Given the description of an element on the screen output the (x, y) to click on. 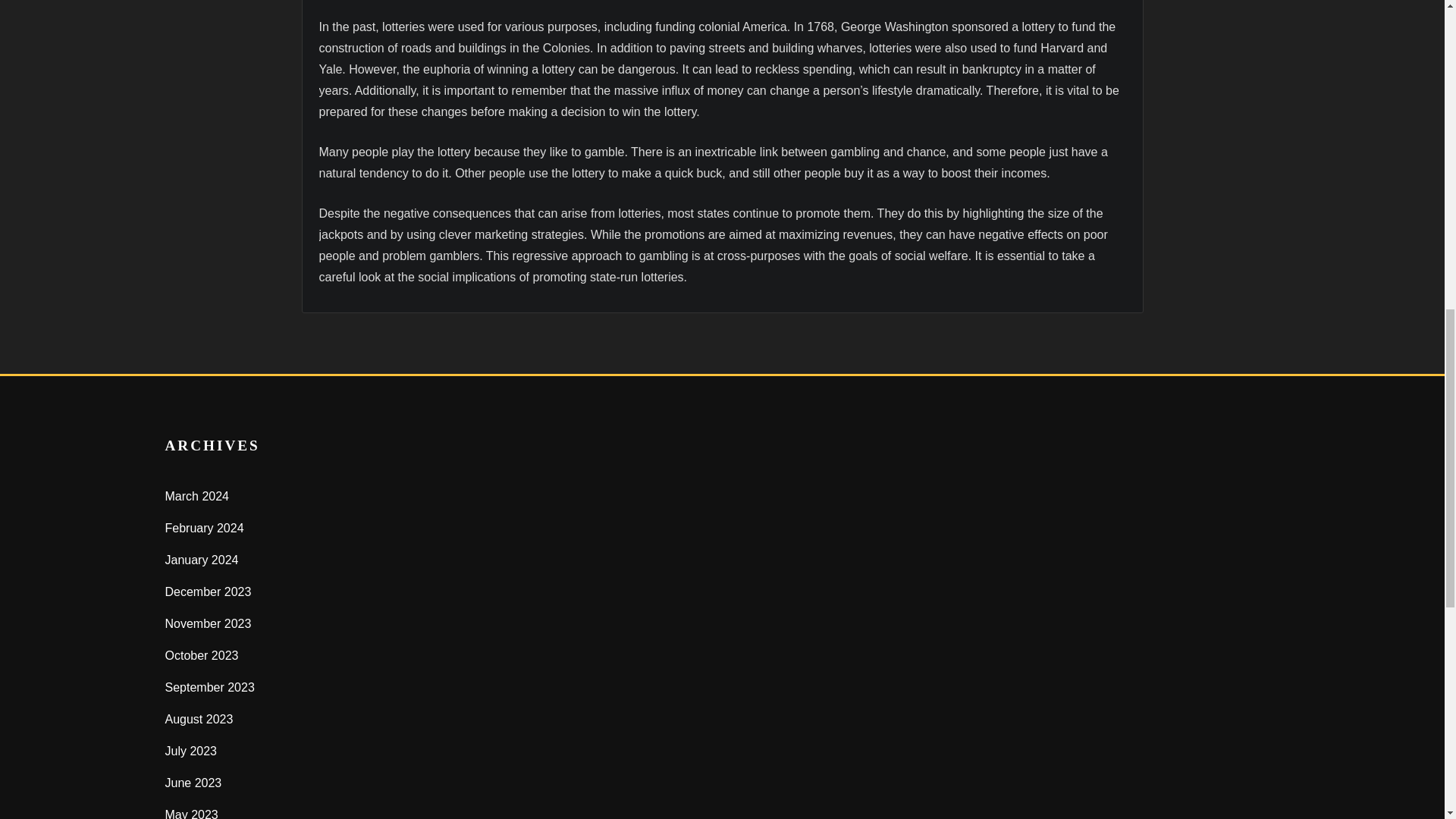
June 2023 (193, 782)
March 2024 (197, 495)
January 2024 (201, 559)
December 2023 (208, 591)
October 2023 (201, 655)
August 2023 (198, 718)
May 2023 (191, 813)
July 2023 (190, 750)
November 2023 (208, 623)
September 2023 (209, 686)
